Given the description of an element on the screen output the (x, y) to click on. 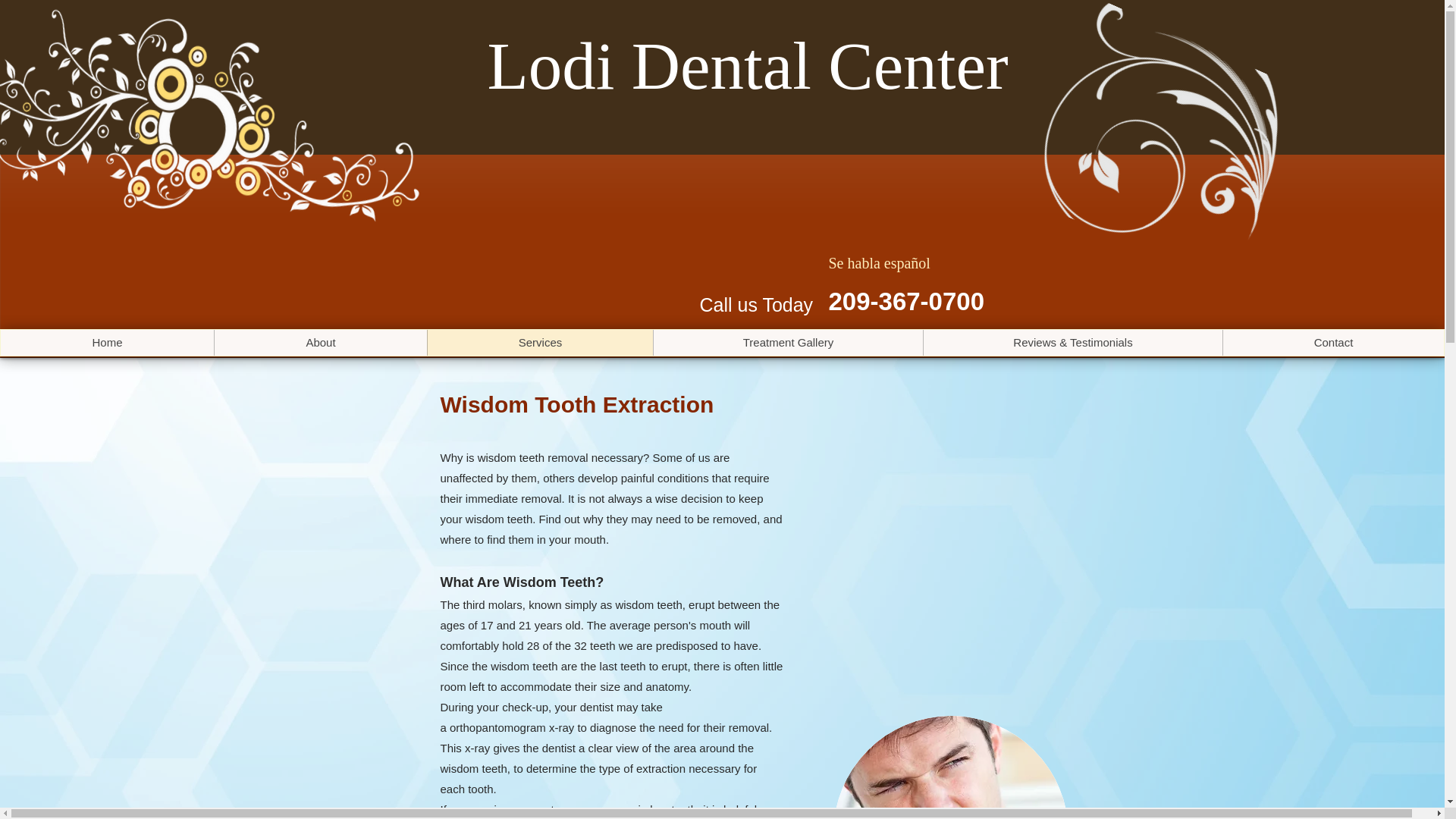
Treatment Gallery (787, 342)
Contact (1333, 342)
Home (107, 342)
Services (539, 342)
About (320, 342)
